Given the description of an element on the screen output the (x, y) to click on. 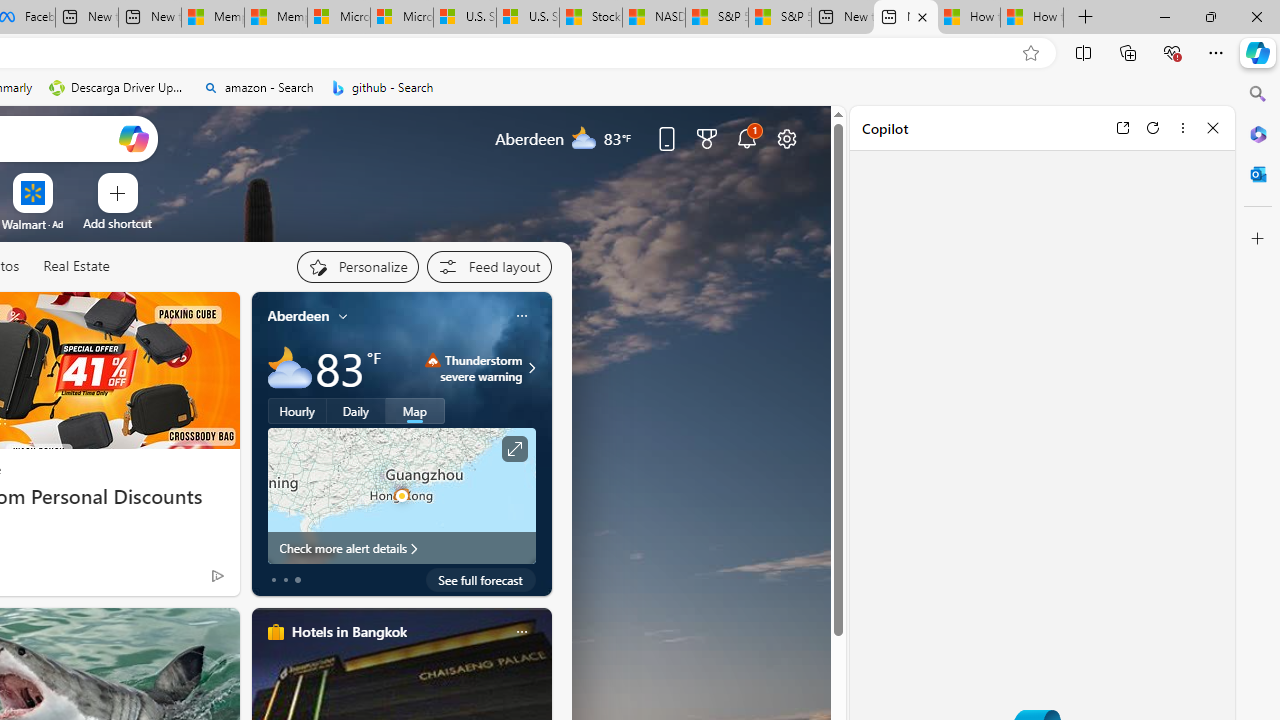
Thunderstorm - Severe Thunderstorm severe warning (473, 367)
Hotels in Bangkok (348, 631)
Personalize your feed" (356, 266)
Feed settings (488, 266)
Larger map  (401, 495)
